Given the description of an element on the screen output the (x, y) to click on. 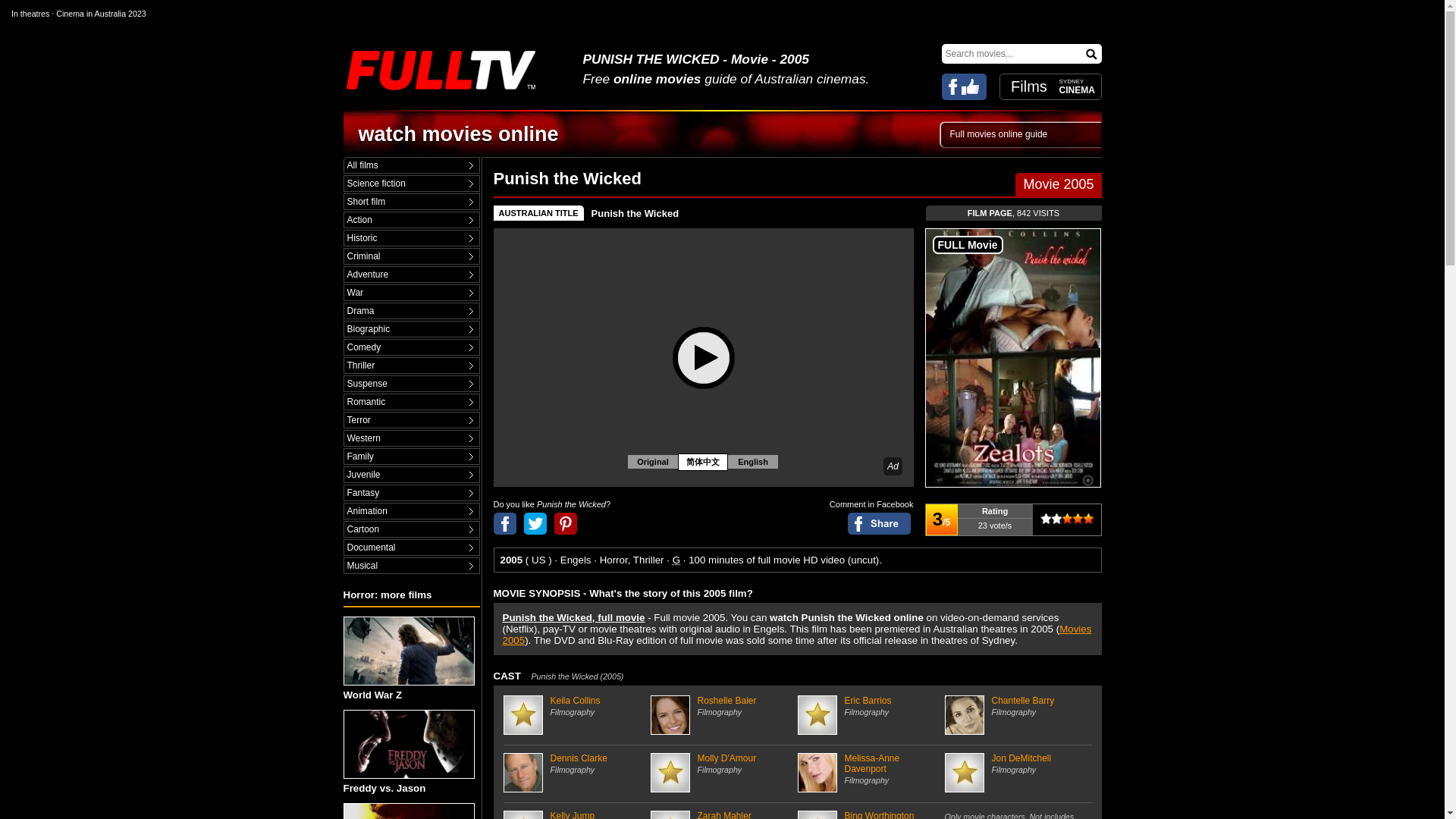
All films (411, 165)
In theatres (30, 13)
Cinema in Australia 2023 (100, 13)
Action (411, 219)
War (411, 292)
Science fiction (411, 183)
Suspense (411, 383)
watch movies online (457, 133)
Jeepers Creepers 3: Cathedral (410, 811)
Search (1091, 53)
Family (411, 456)
Western (411, 437)
In theatres (30, 13)
Short film (411, 201)
FULLTV in Facebook (964, 86)
